Given the description of an element on the screen output the (x, y) to click on. 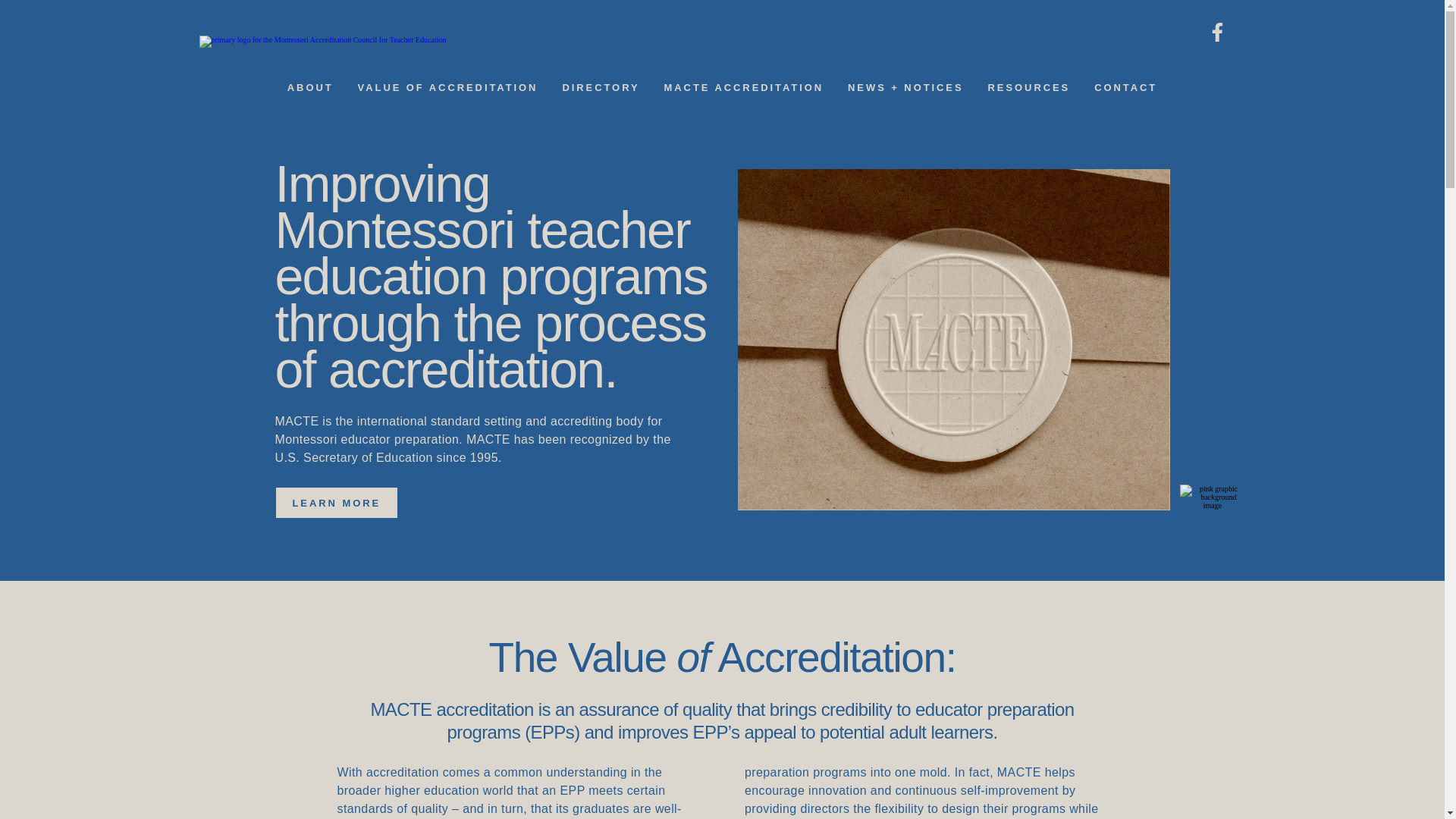
ABOUT (309, 87)
MACTE ACCREDITATION (743, 87)
RESOURCES (1029, 87)
CONTACT (1125, 87)
VALUE OF ACCREDITATION (448, 87)
DIRECTORY (600, 87)
